Given the description of an element on the screen output the (x, y) to click on. 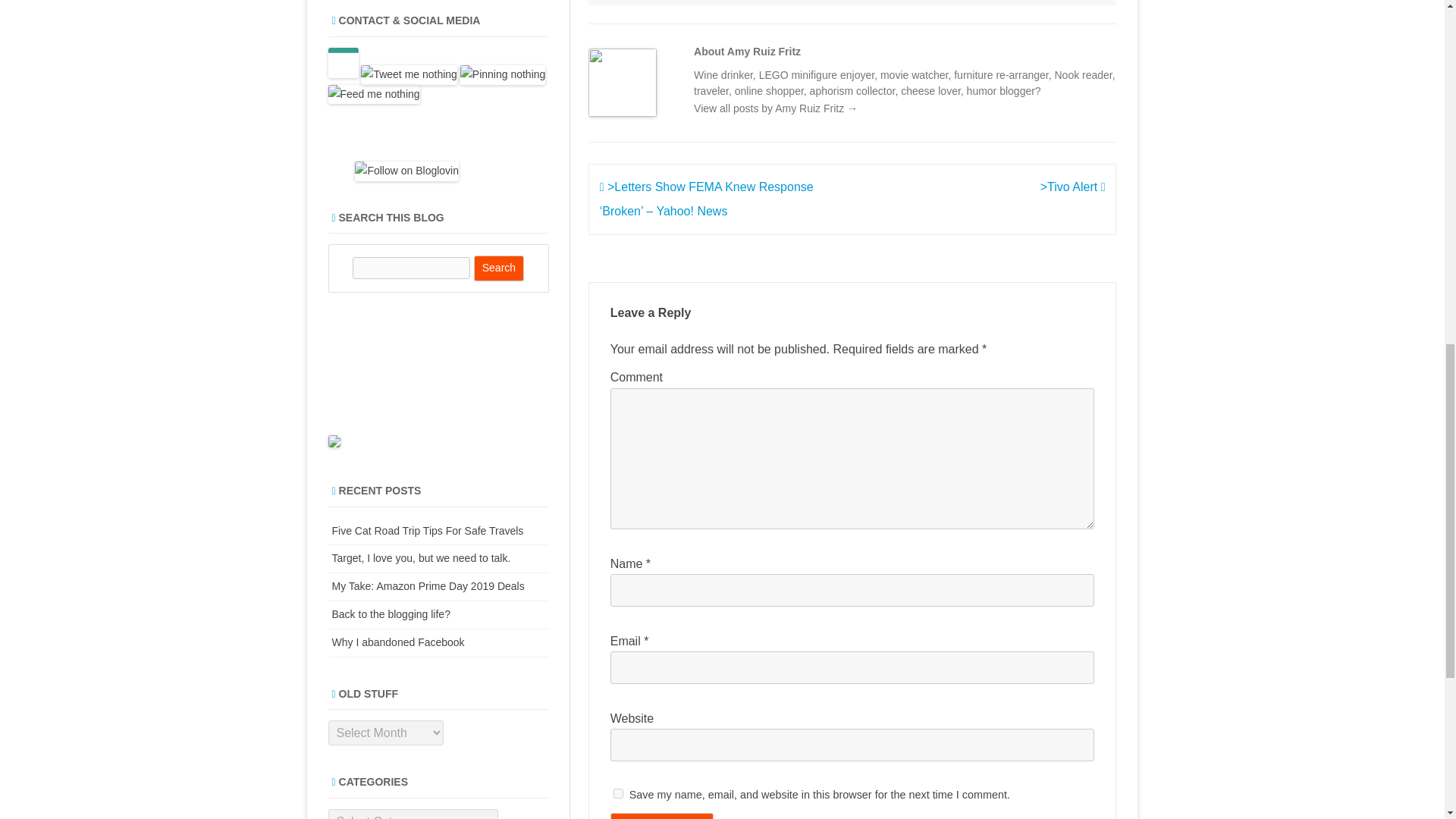
Search (499, 268)
Follow Chronicles of Nothing on Bloglovin (406, 170)
yes (617, 793)
Search (499, 268)
Post Comment (661, 816)
Post Comment (661, 816)
